Given the description of an element on the screen output the (x, y) to click on. 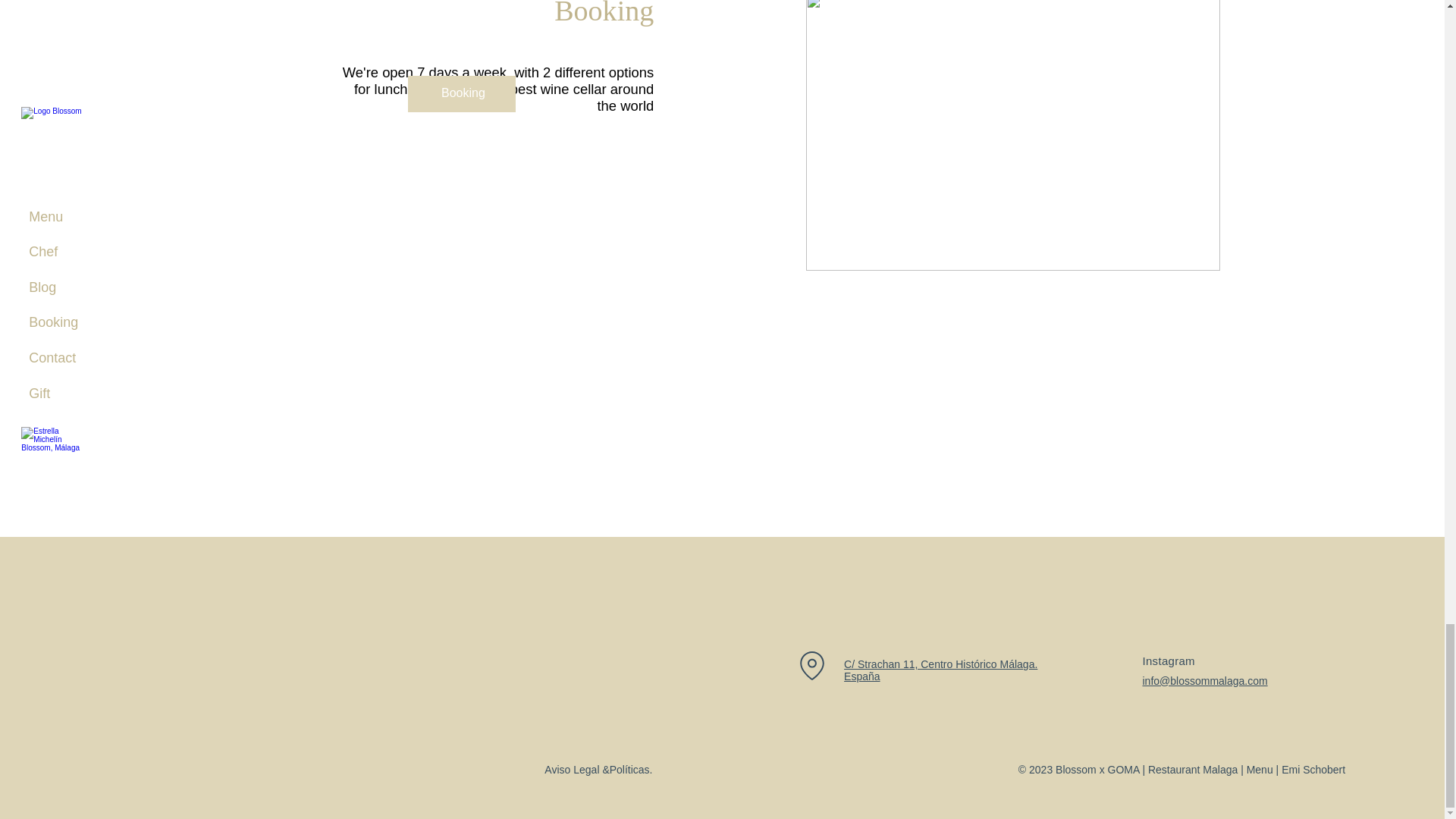
Booking (461, 94)
Emi Schobert (1313, 769)
Instagram (1167, 660)
GOMA (1124, 769)
Menu (1259, 769)
